Given the description of an element on the screen output the (x, y) to click on. 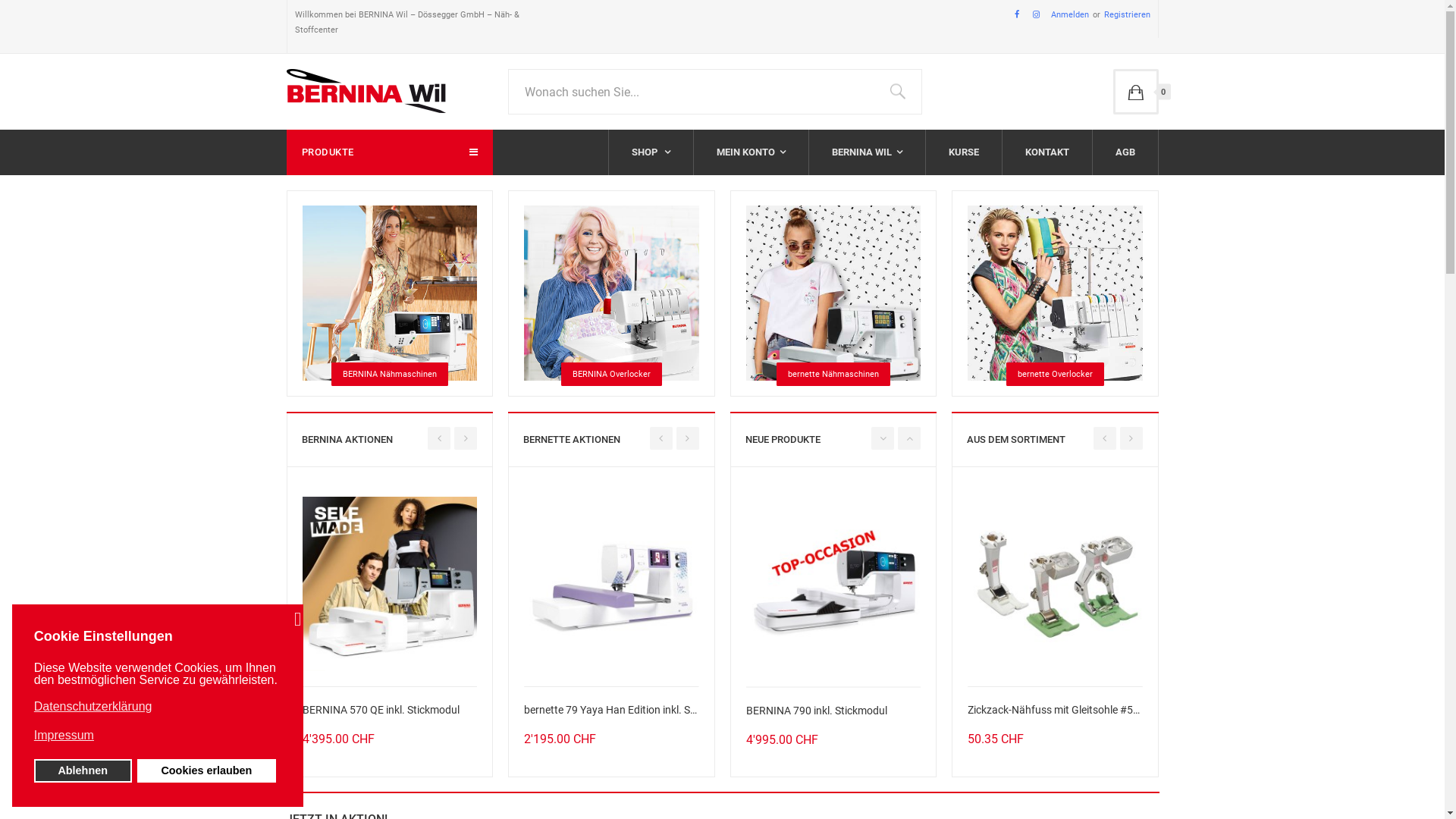
BERNINA Wil Element type: hover (365, 90)
0 Element type: text (1135, 91)
BERNINA 570 QE inkl. Stickmodul Element type: hover (388, 582)
BERNINA 790 inkl. Stickmodul Element type: hover (833, 582)
facebook Element type: hover (1016, 14)
BERNINA WIL Element type: text (866, 152)
BERNINA 570 QE inkl. Stickmodul Element type: text (379, 709)
Impressum Element type: text (156, 735)
instagram Element type: hover (1035, 14)
Cookies erlauben Element type: text (206, 770)
BERNINA Overlocker Element type: hover (611, 291)
bernette 79 Yaya Han Edition inkl. Stickmodul Element type: hover (436, 582)
Cover-Stich-Fuss Bernette 009DCC Element type: hover (880, 582)
Ablehnen Element type: text (82, 770)
SHOP Element type: text (650, 152)
BERNINA 790 inkl. Stickmodul Element type: text (816, 709)
bernette Overlocker Element type: text (1055, 373)
Anmelden Element type: text (1069, 14)
bernette 79 Yaya Han Edition inkl. Stickmodul Element type: hover (611, 582)
BERNINA Overlocker Element type: text (611, 373)
MEIN KONTO Element type: text (750, 152)
Registrieren Element type: text (1119, 14)
BERNINA L 850 Element type: hover (214, 582)
KURSE Element type: text (963, 152)
bernette 79 Yaya Han Edition inkl. Stickmodul Element type: text (454, 709)
KONTAKT Element type: text (1047, 152)
bernette 79 Yaya Han Edition inkl. Stickmodul Element type: text (630, 709)
AGB Element type: text (1124, 152)
bernette Overlocker Element type: hover (1054, 291)
